Given the description of an element on the screen output the (x, y) to click on. 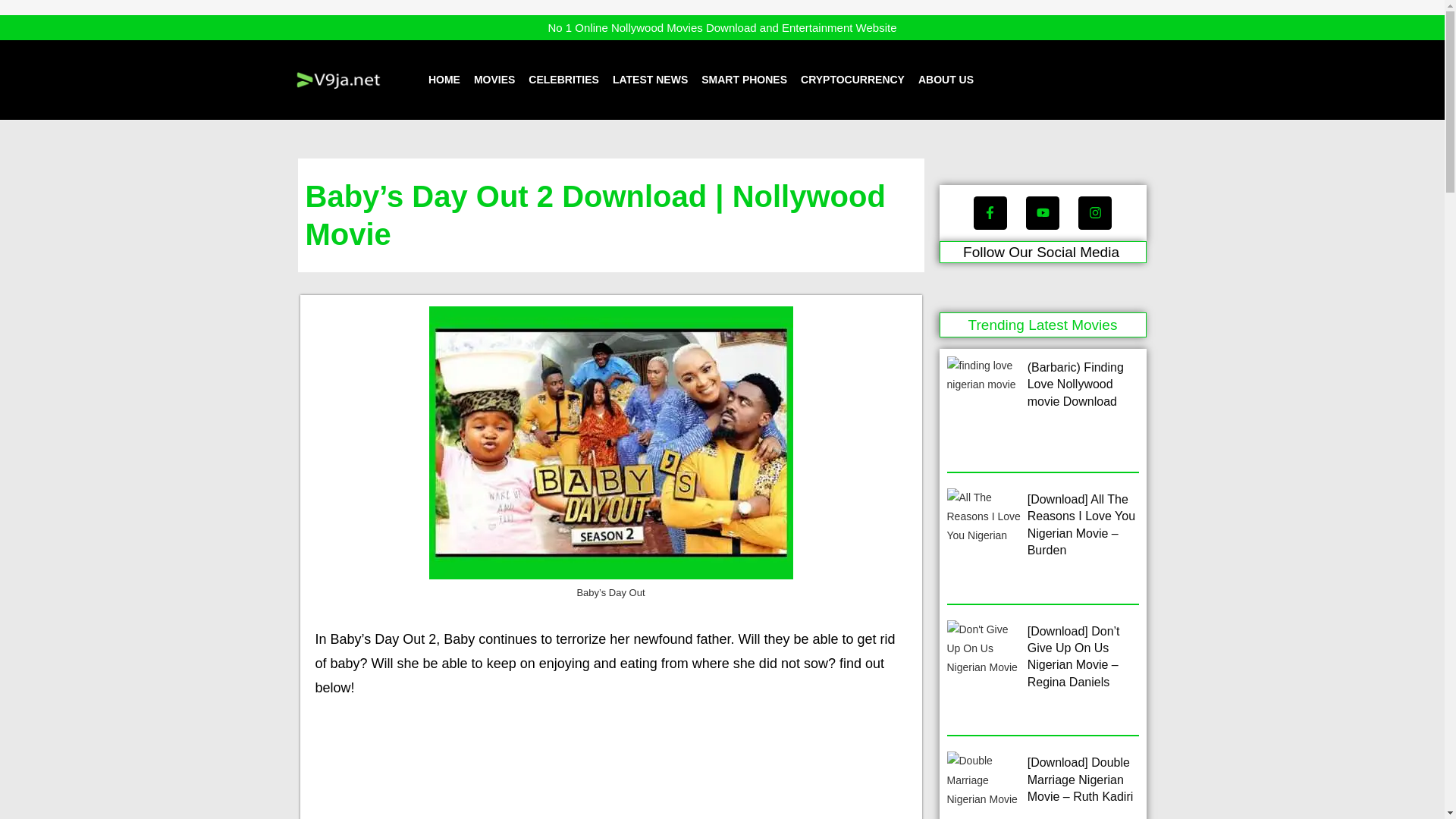
CRYPTOCURRENCY (852, 79)
SMART PHONES (744, 79)
HOME (444, 79)
Advertisement (611, 767)
ABOUT US (946, 79)
LATEST NEWS (649, 79)
MOVIES (494, 79)
CELEBRITIES (563, 79)
